Given the description of an element on the screen output the (x, y) to click on. 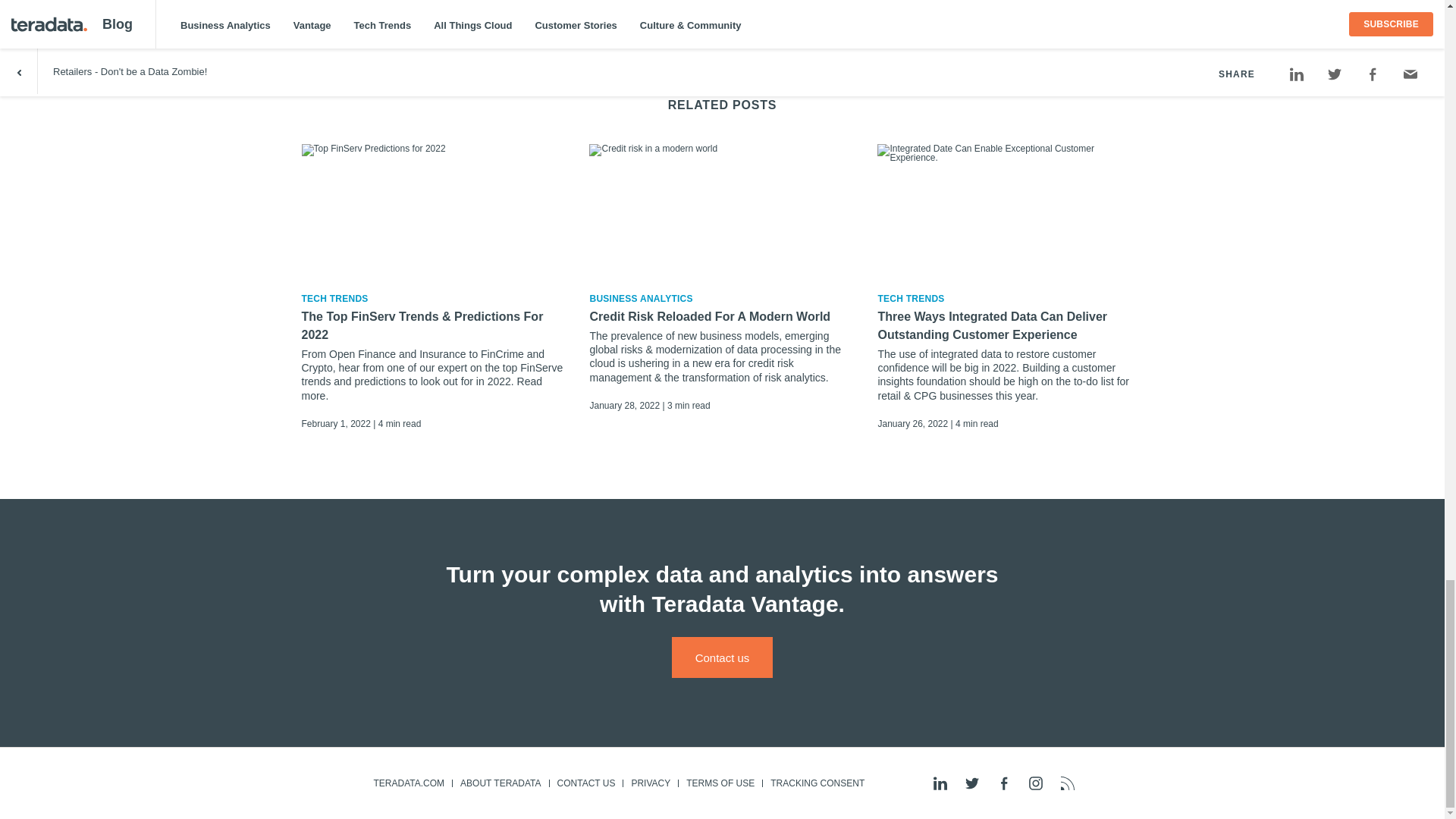
Integrated Date Can Enable Exceptional Customer Experience. (1009, 210)
Open the Teradata Web Tracking Consent Center (816, 783)
Credit risk in a modern world (721, 210)
TRACKING CONSENT (816, 783)
ABOUT TERADATA (499, 783)
TERADATA.COM (408, 783)
TERMS OF USE (719, 783)
Top FinServ Predictions for 2022 (434, 210)
CONTACT US (585, 783)
